Given the description of an element on the screen output the (x, y) to click on. 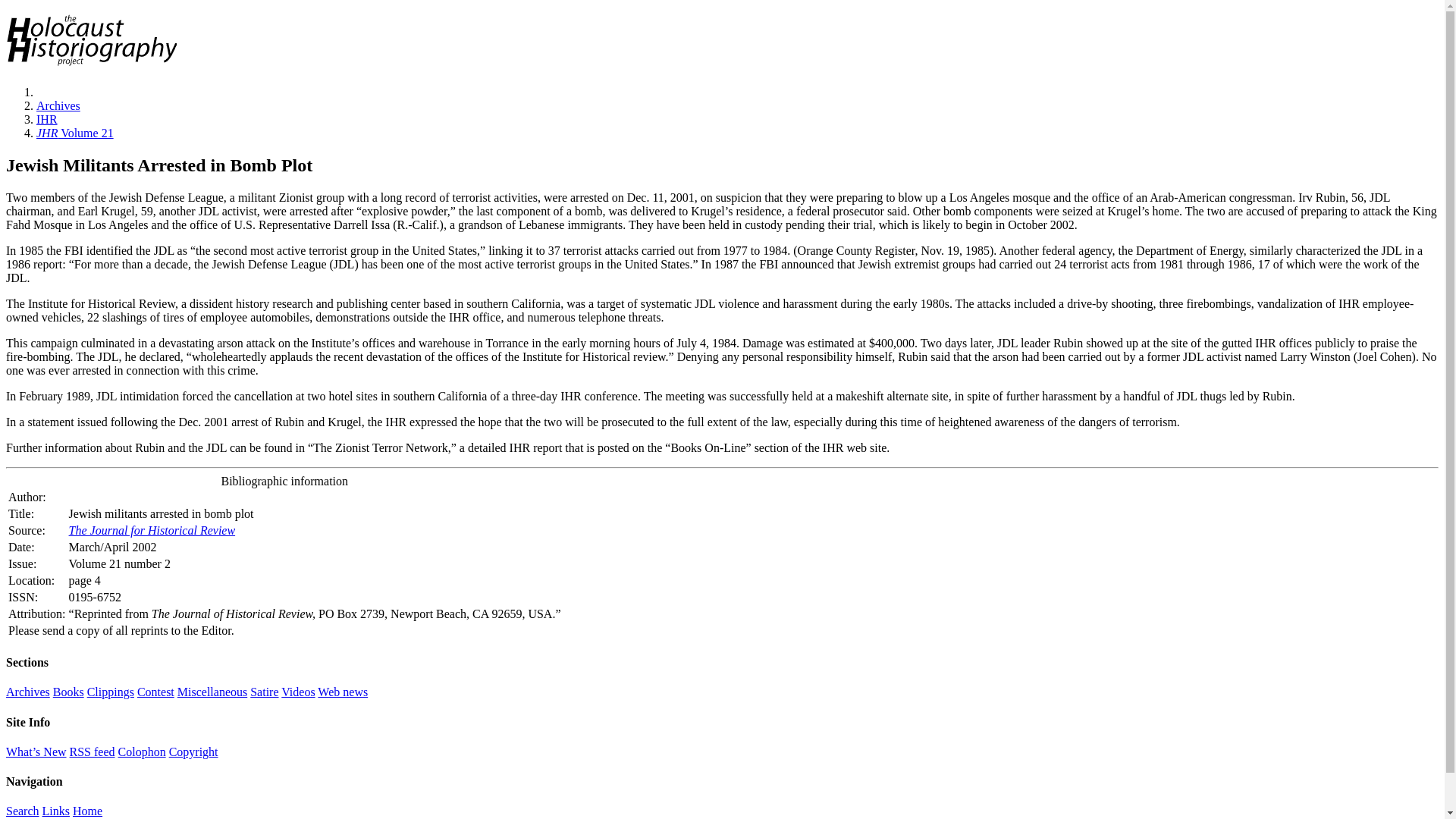
Colophon (141, 751)
Annual Halloween contest (155, 691)
Clippings (110, 691)
Home (86, 810)
Web news (342, 691)
Back to the main HHP page (86, 810)
Holocaust books (68, 691)
Clippings and commentary (110, 691)
Books (68, 691)
Videos (297, 691)
The Journal for Historical Review (151, 530)
Satire (264, 691)
Videos (297, 691)
About this site (141, 751)
New files and site changes (35, 751)
